Given the description of an element on the screen output the (x, y) to click on. 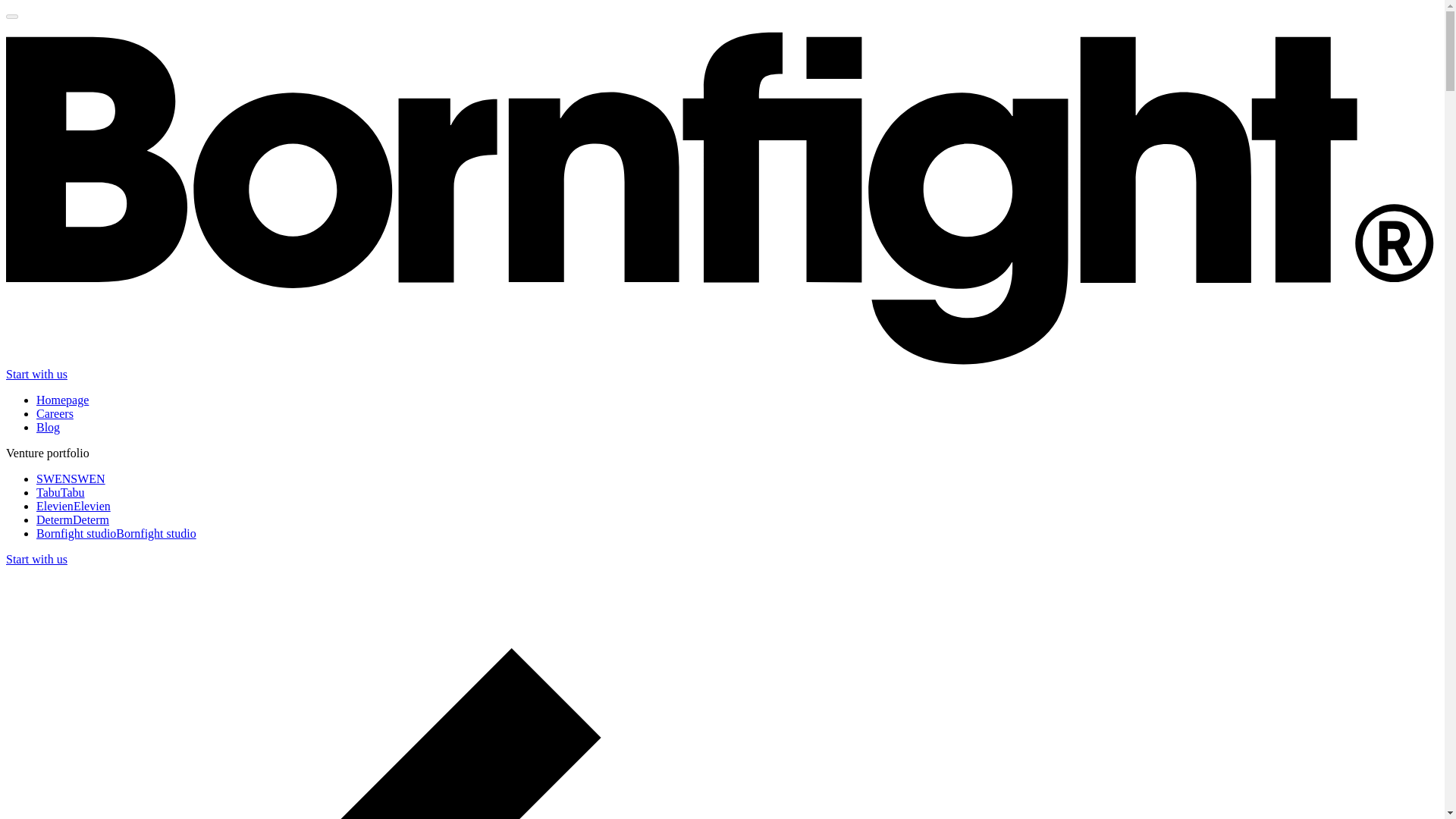
SWENSWEN (70, 478)
Homepage (62, 399)
Bornfight studioBornfight studio (116, 533)
Start with us (35, 373)
Careers (55, 413)
ElevienElevien (73, 505)
Blog (47, 427)
DetermDeterm (72, 519)
TabuTabu (60, 492)
Start with us (35, 558)
